Given the description of an element on the screen output the (x, y) to click on. 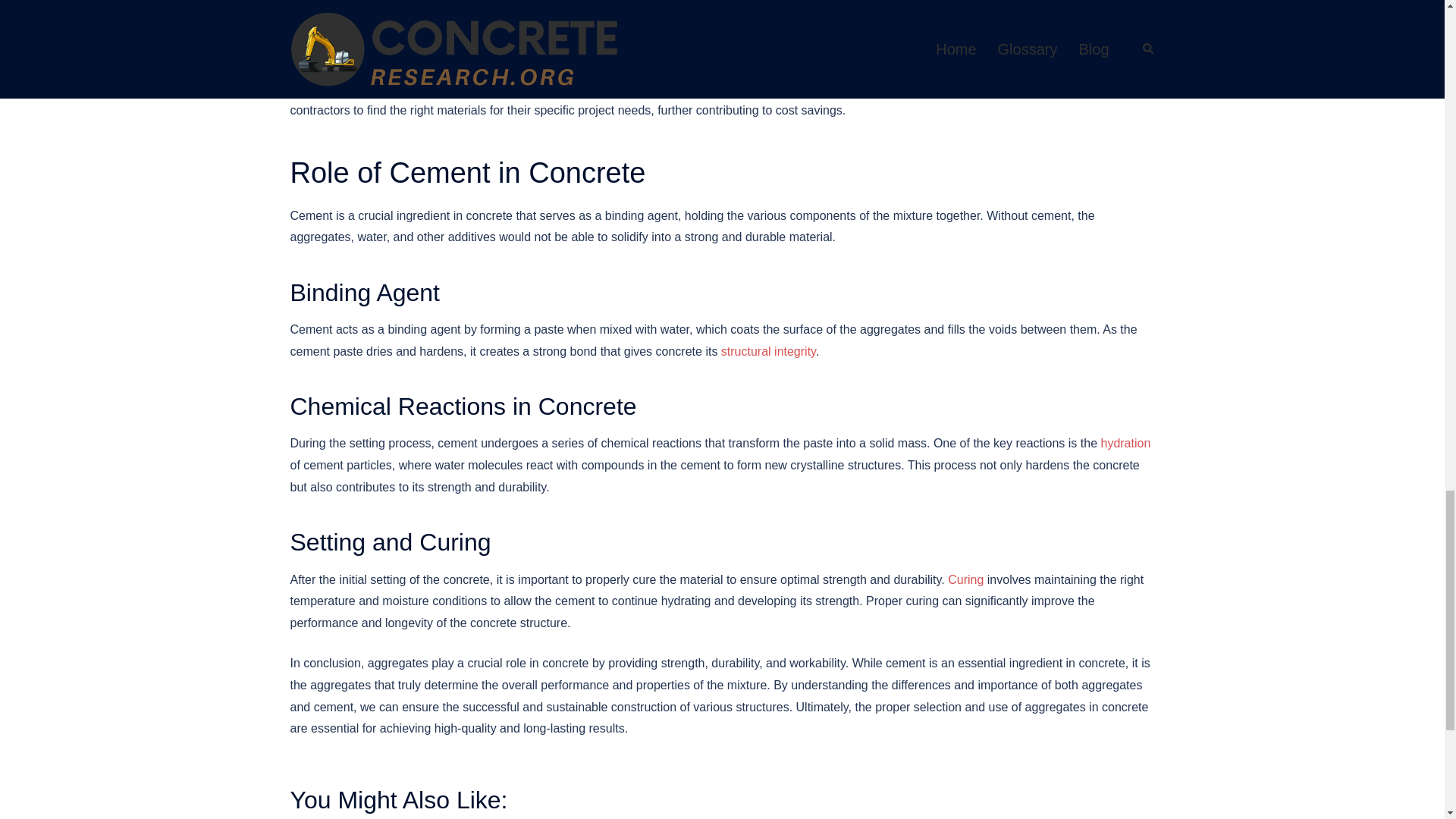
hydration (1125, 442)
structural integrity (767, 350)
structural integrity (767, 350)
Curing (965, 579)
Curing (965, 579)
hydration (1125, 442)
